Given the description of an element on the screen output the (x, y) to click on. 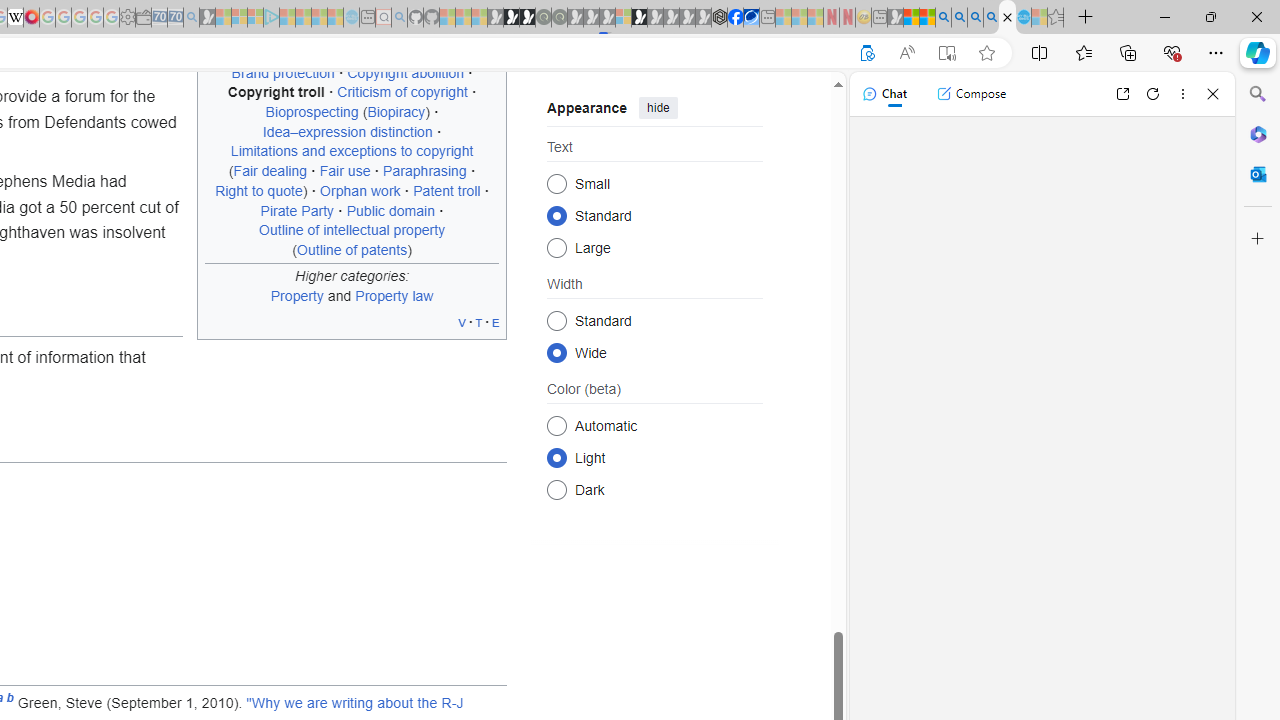
Paraphrasing (424, 171)
Minimize (1164, 16)
AirNow.gov (751, 17)
Add this page to favorites (Ctrl+D) (986, 53)
b (10, 703)
Pirate Party (297, 210)
Enter Immersive Reader (F9) (946, 53)
Dark (556, 488)
MediaWiki (31, 17)
Close Customize pane (1258, 239)
